Given the description of an element on the screen output the (x, y) to click on. 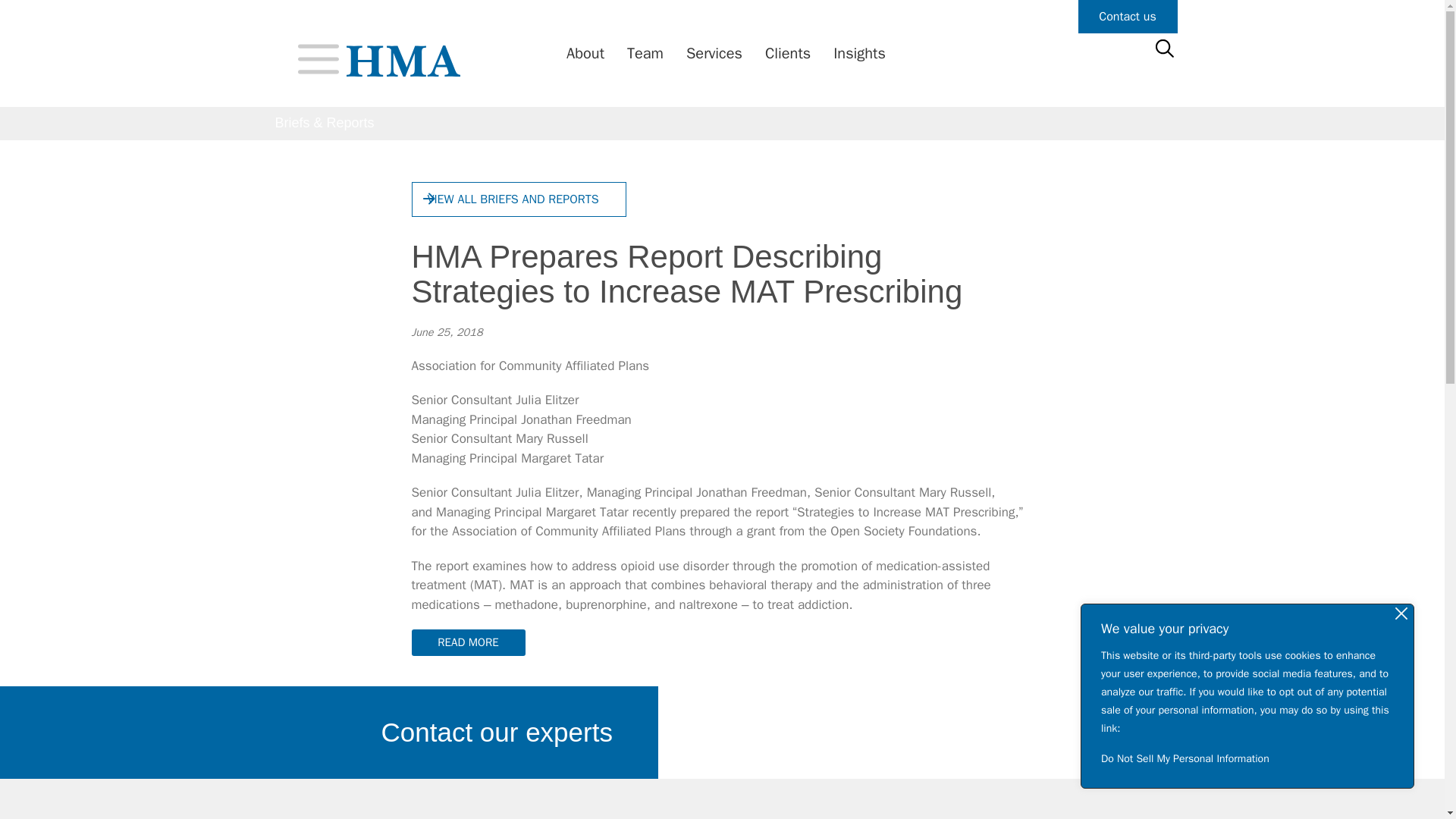
Search for: (1163, 48)
Contact us (1127, 16)
Search (35, 18)
Menu (317, 58)
Services (710, 53)
Do Not Sell My Personal Information (1246, 759)
About (581, 53)
Team (641, 53)
